Given the description of an element on the screen output the (x, y) to click on. 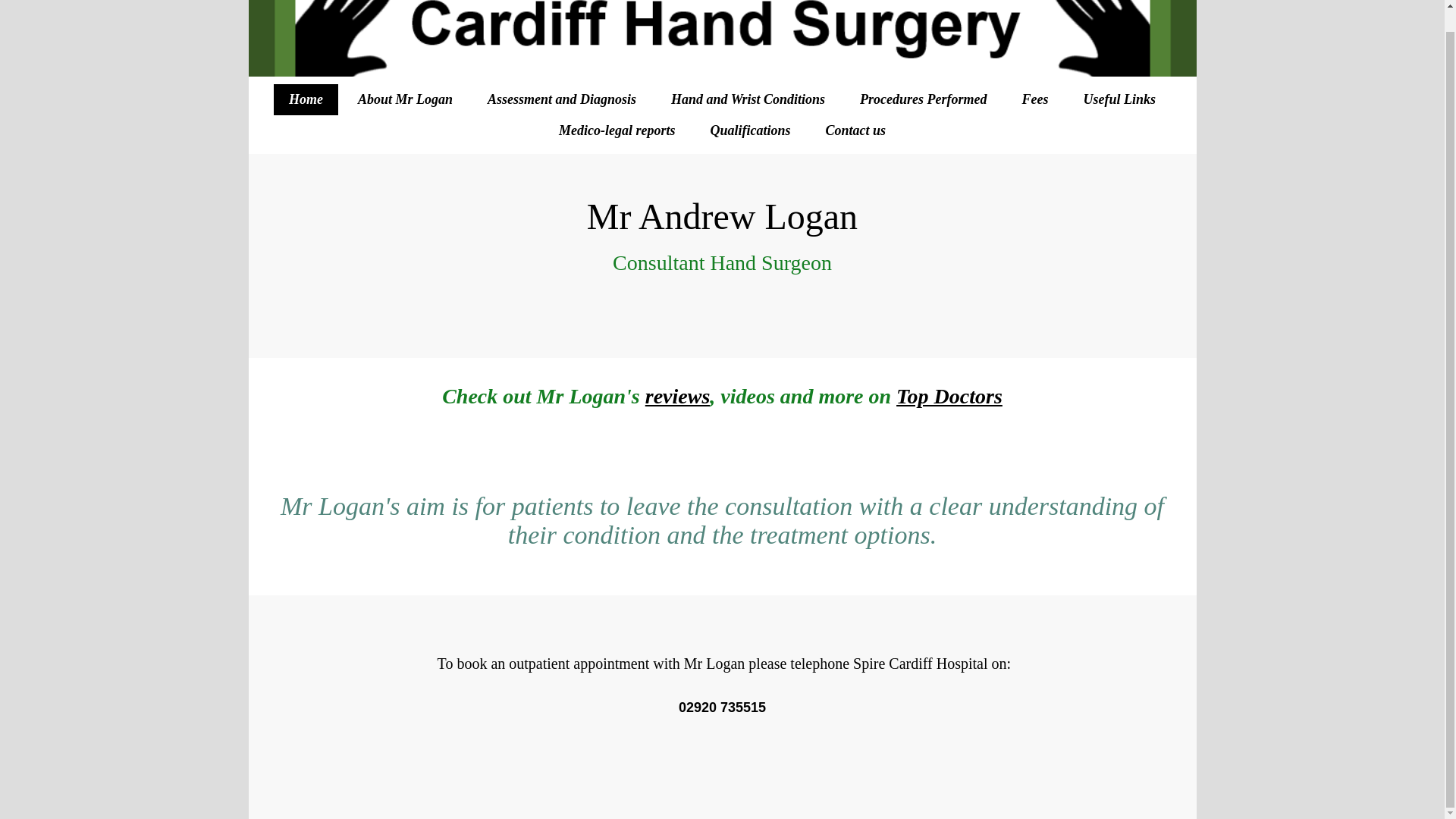
Medico-legal reports (616, 130)
Qualifications (749, 130)
Contact us (855, 130)
Home (305, 99)
reviews (677, 395)
Hand and Wrist Conditions (748, 99)
Medico-legal reports (616, 130)
Procedures Performed (922, 99)
Hand and Wrist Conditions (748, 99)
Procedures Performed (922, 99)
Home (305, 99)
Fees (1034, 99)
Qualifications (749, 130)
About Mr Logan (404, 99)
Useful Links (1118, 99)
